Given the description of an element on the screen output the (x, y) to click on. 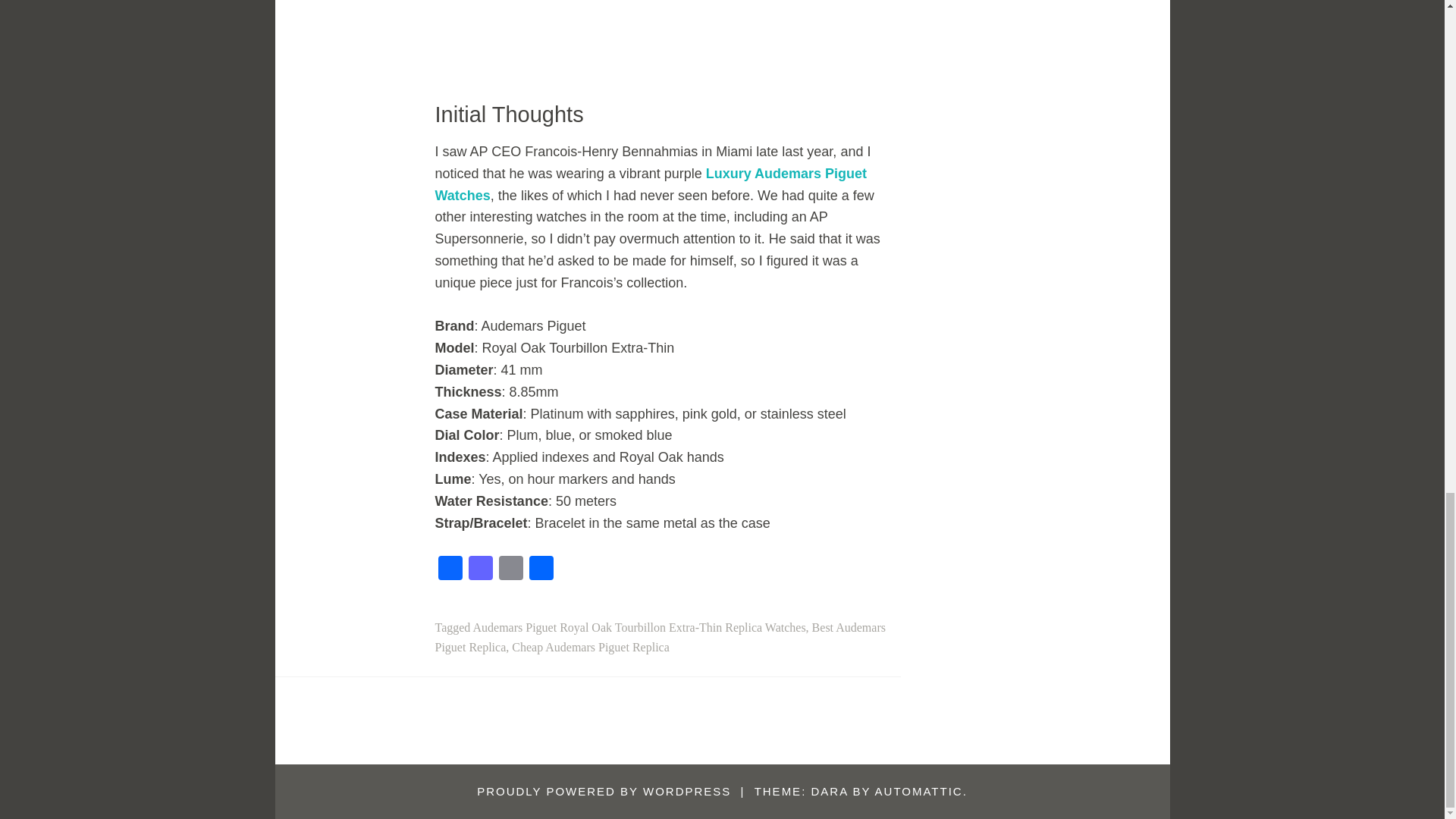
Email (510, 569)
Share (540, 569)
Luxury Audemars Piguet Watches (651, 184)
Facebook (450, 569)
Best Audemars Piguet Replica (660, 636)
Cheap Audemars Piguet Replica (590, 646)
Facebook (450, 569)
Mastodon (480, 569)
Email (510, 569)
Mastodon (480, 569)
